Given the description of an element on the screen output the (x, y) to click on. 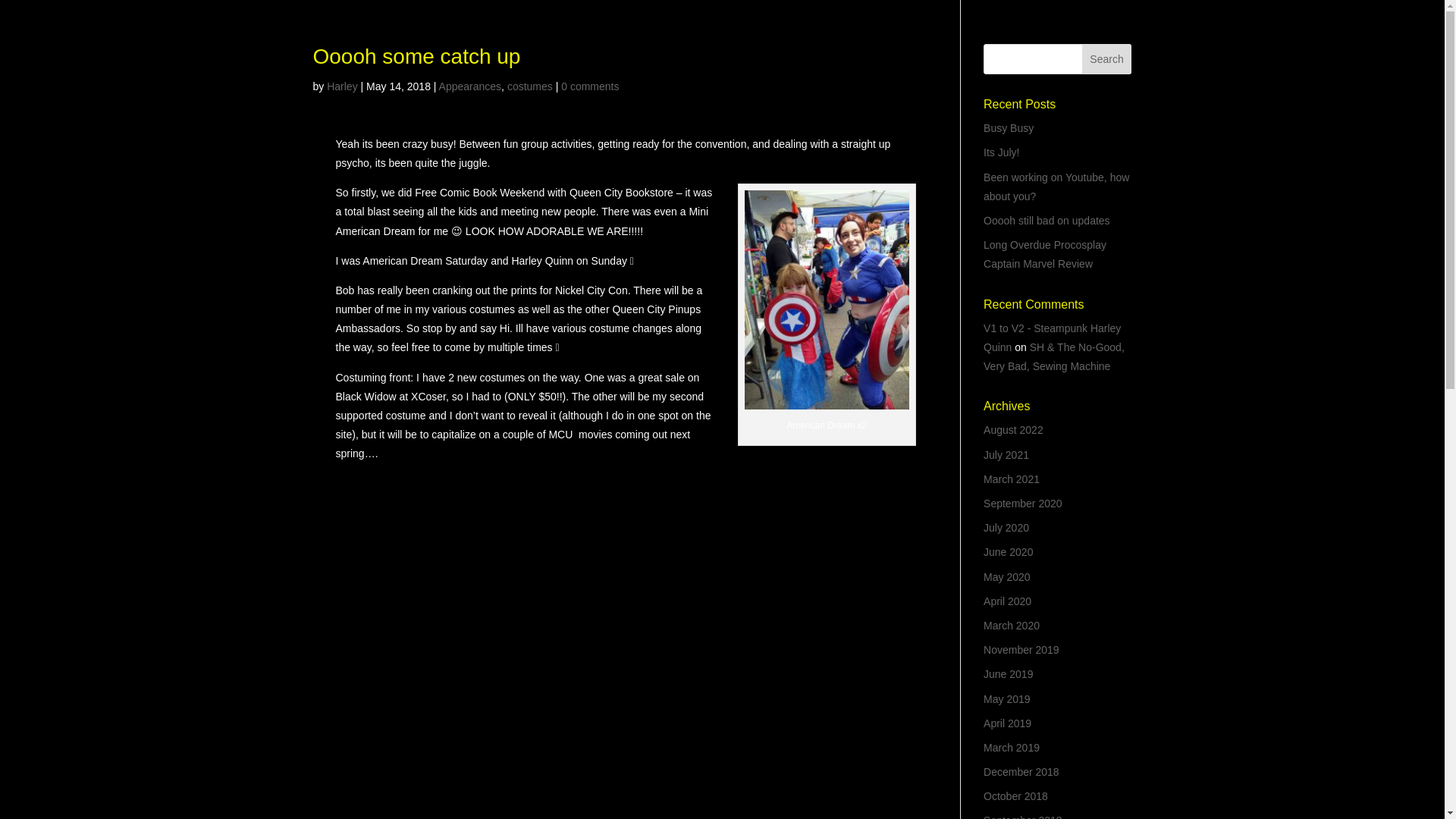
Appearances (470, 86)
November 2019 (1021, 649)
July 2021 (1006, 454)
December 2018 (1021, 771)
Search (1106, 59)
Search (1106, 59)
Busy Busy (1008, 128)
June 2019 (1008, 674)
Been working on Youtube, how about you? (1056, 186)
costumes (529, 86)
March 2019 (1011, 747)
August 2022 (1013, 429)
Harley (341, 86)
April 2019 (1007, 723)
September 2020 (1023, 503)
